Given the description of an element on the screen output the (x, y) to click on. 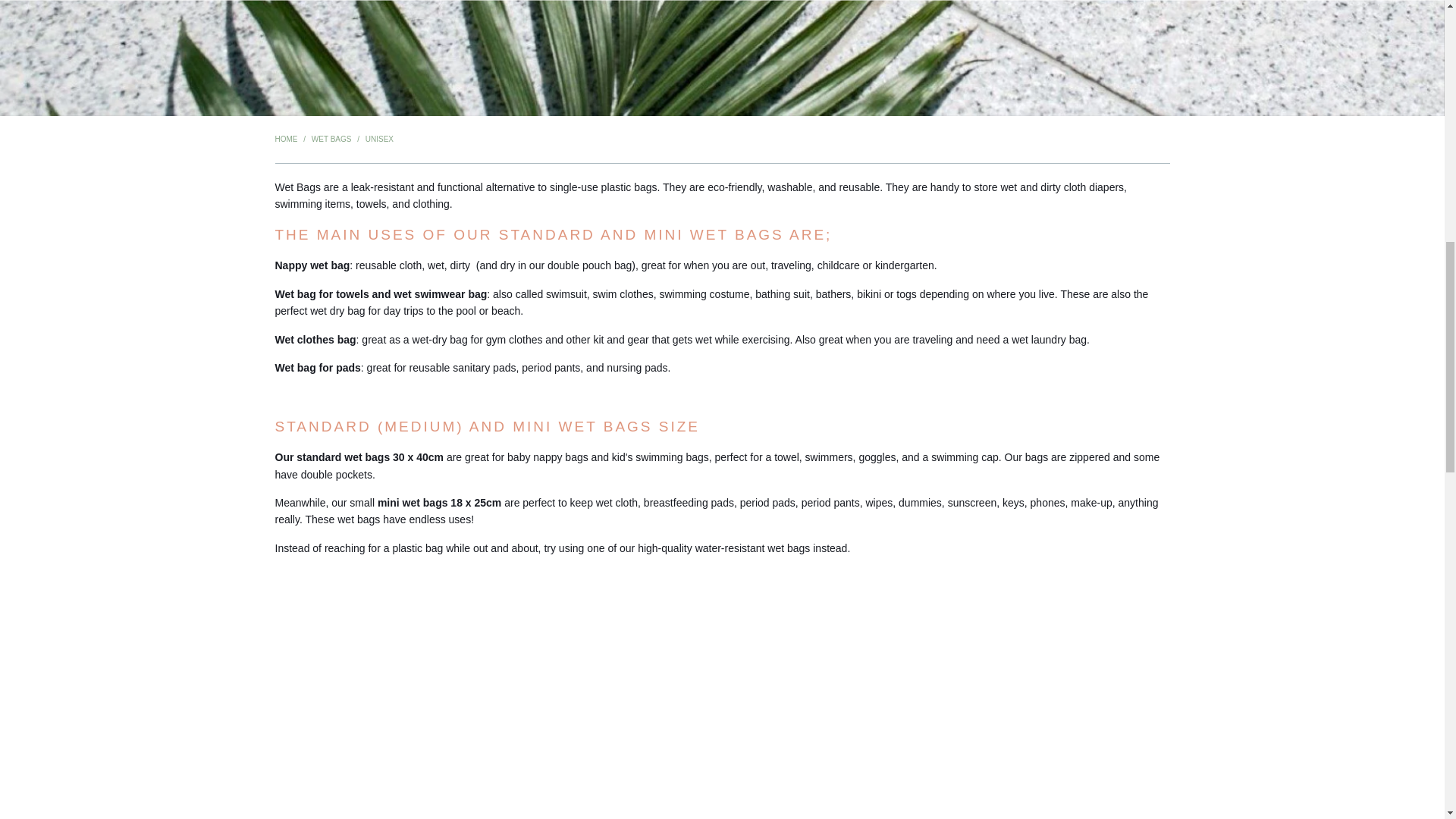
Lil Savvy (286, 139)
Unisex (379, 139)
WET BAGS (331, 139)
